Given the description of an element on the screen output the (x, y) to click on. 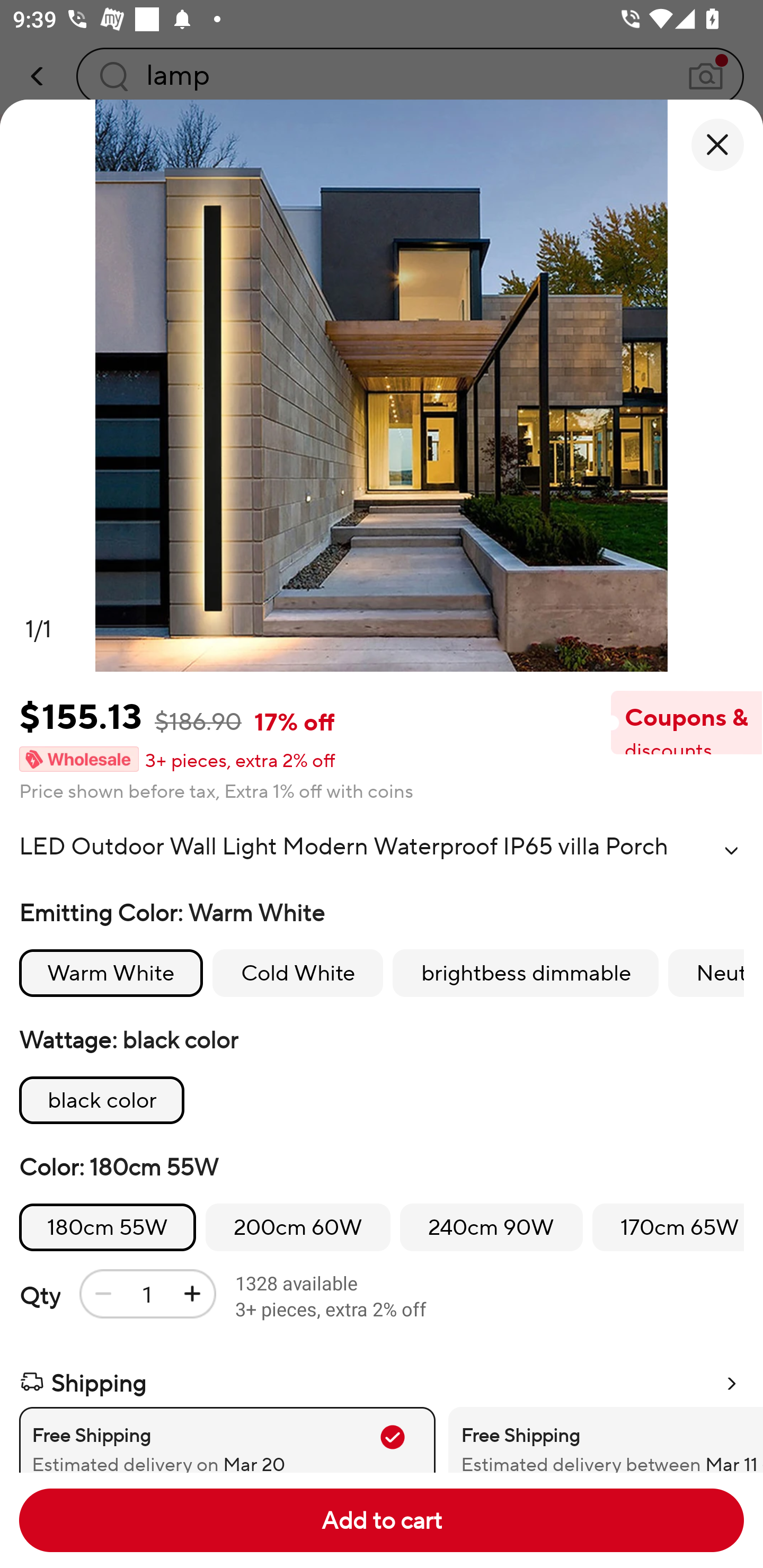
close  (717, 144)
 (730, 850)
Warm White (110, 972)
Cold White (297, 972)
brightbess dimmable (525, 972)
black color (101, 1099)
180cm 55W (107, 1227)
200cm 60W (297, 1227)
240cm 90W (490, 1227)
170cm 65W (667, 1227)
Add to cart (381, 1520)
